Given the description of an element on the screen output the (x, y) to click on. 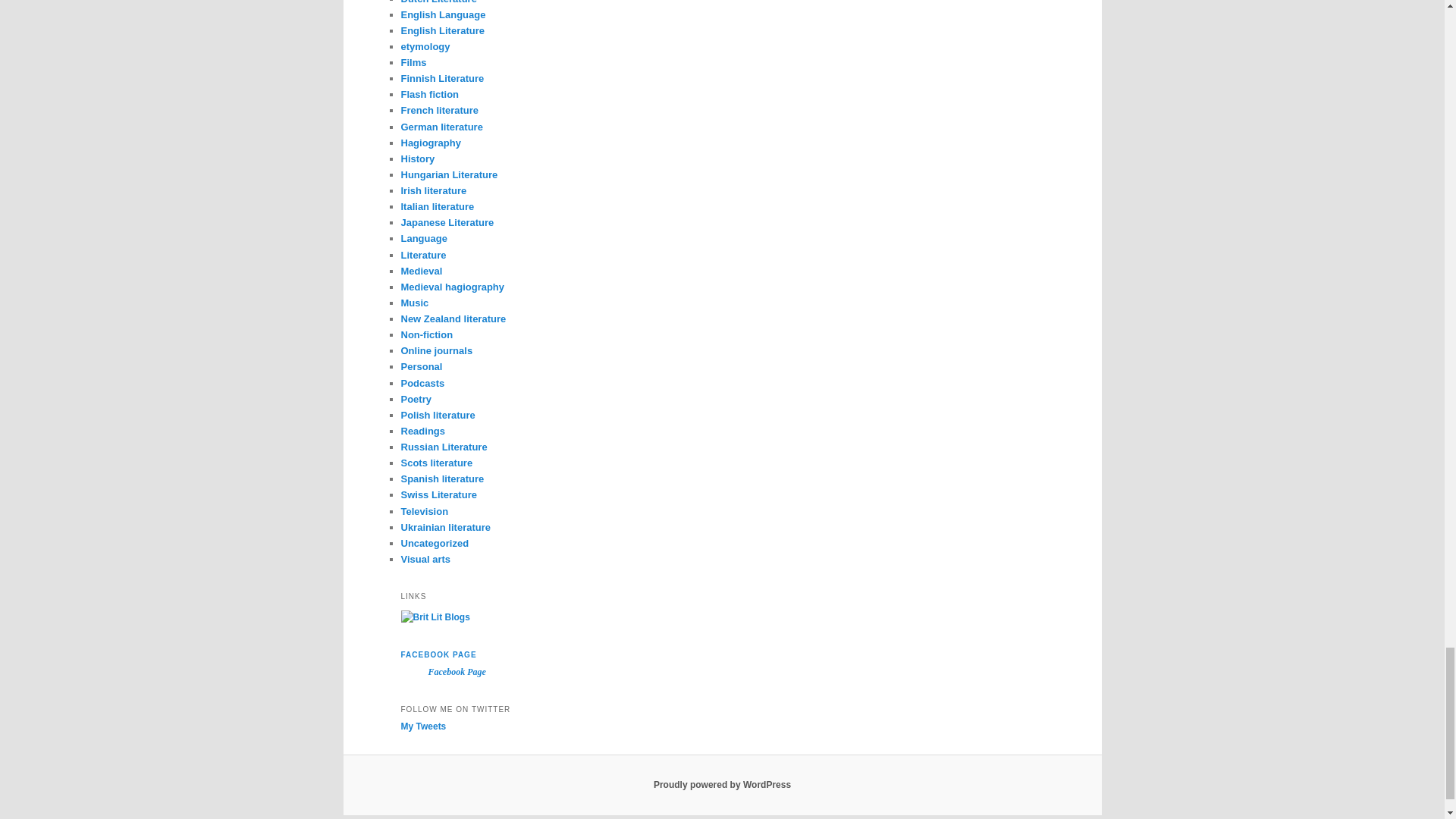
Semantic Personal Publishing Platform (721, 784)
